Given the description of an element on the screen output the (x, y) to click on. 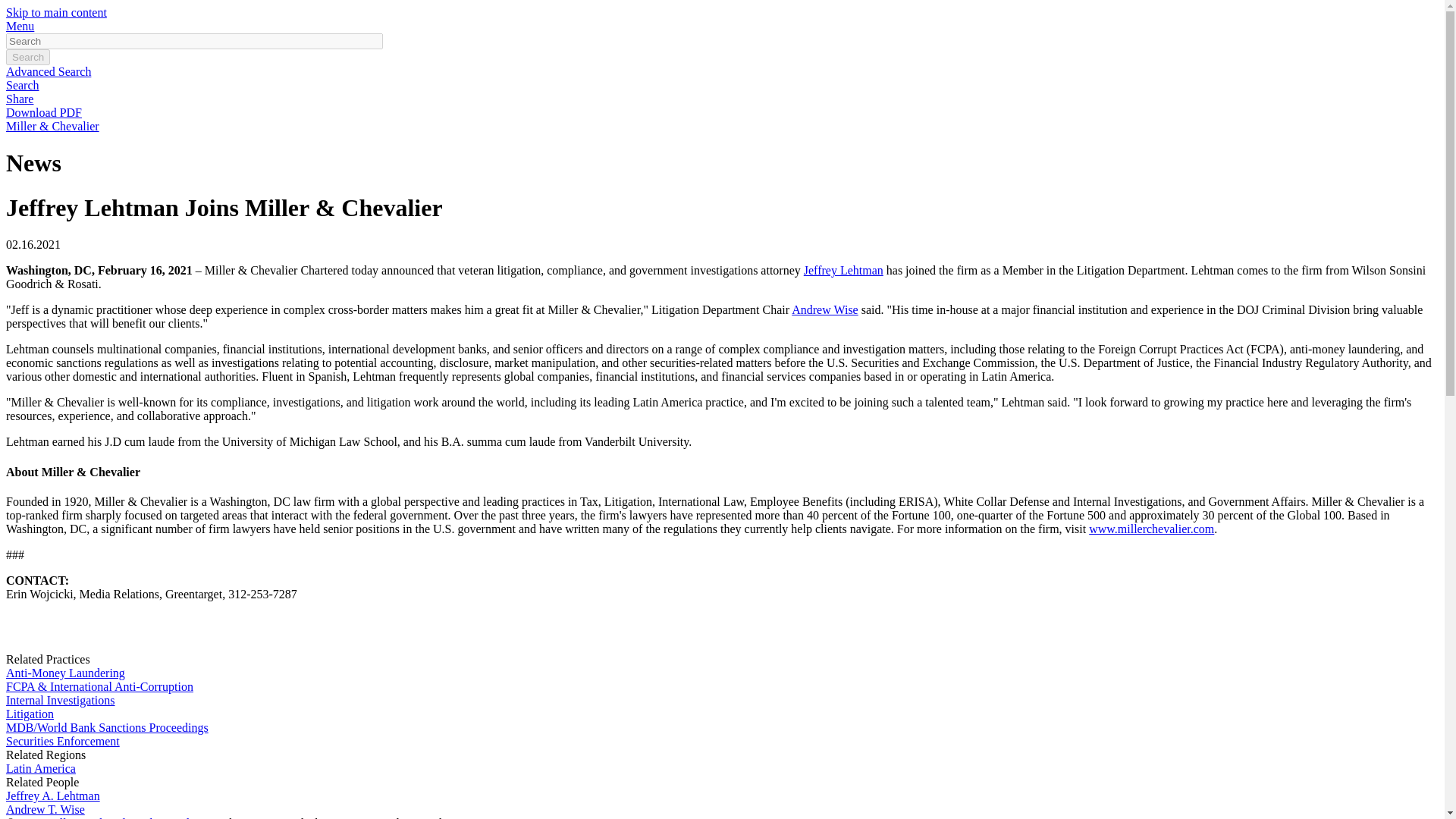
Search (22, 84)
Skip to main content (55, 11)
Search (27, 57)
Jeffrey A. Lehtman (52, 795)
Securities Enforcement (62, 740)
Litigation (29, 713)
Internal Investigations (60, 699)
Search (27, 57)
Andrew Wise (824, 309)
Latin America (40, 768)
Anti-Money Laundering (65, 672)
Advanced Search (47, 71)
Download PDF (43, 112)
Jeffrey Lehtman (843, 269)
Andrew T. Wise (44, 809)
